Given the description of an element on the screen output the (x, y) to click on. 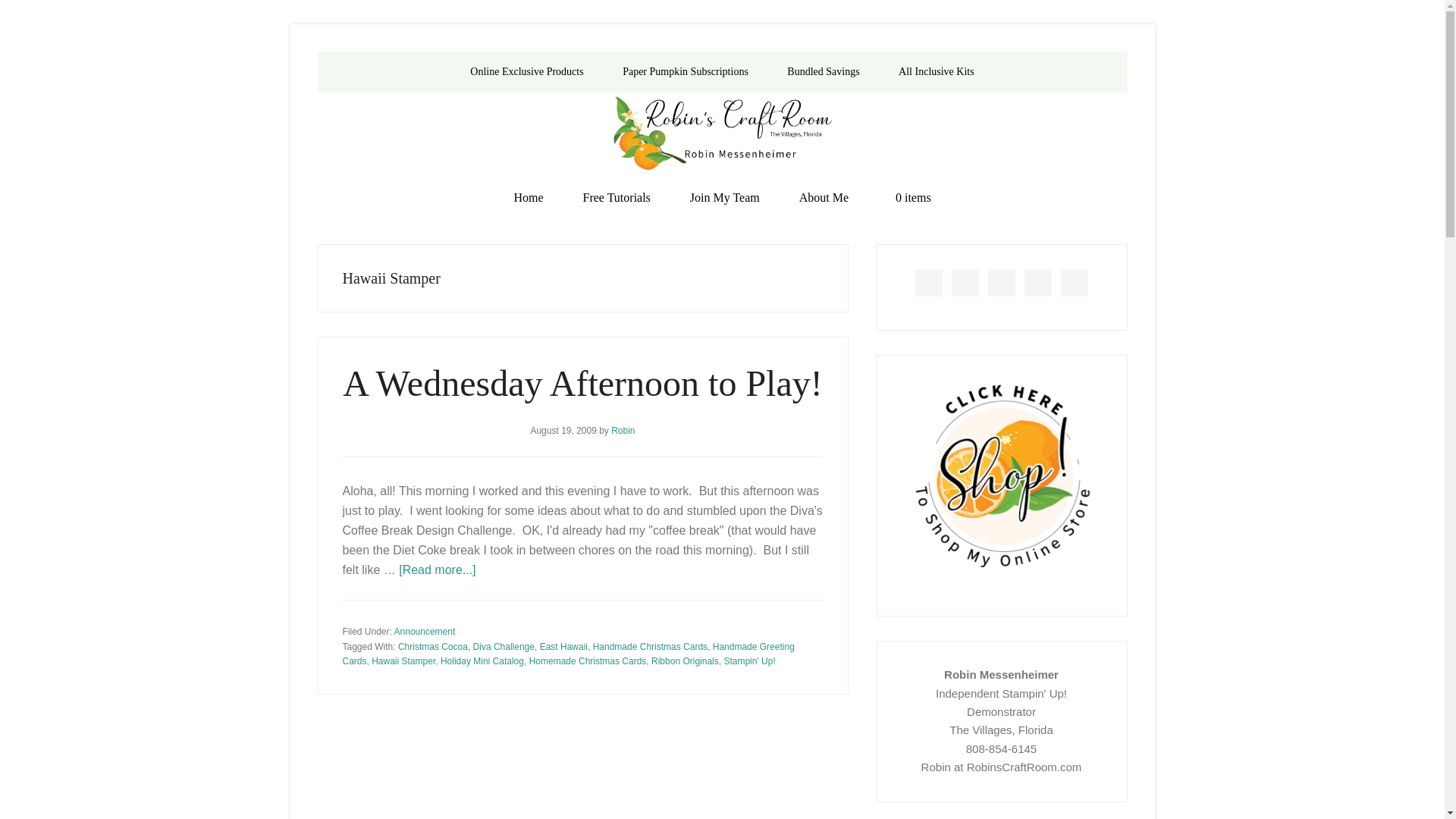
Stampin' Up! (748, 661)
Paper Pumpkin Subscriptions (685, 71)
Home (527, 197)
A Wednesday Afternoon to Play! (582, 383)
Handmade Greeting Cards (568, 654)
East Hawaii (564, 646)
Join My Team (724, 197)
RobinsCraftRoom.com (721, 134)
Online Exclusive Products (526, 71)
